Given the description of an element on the screen output the (x, y) to click on. 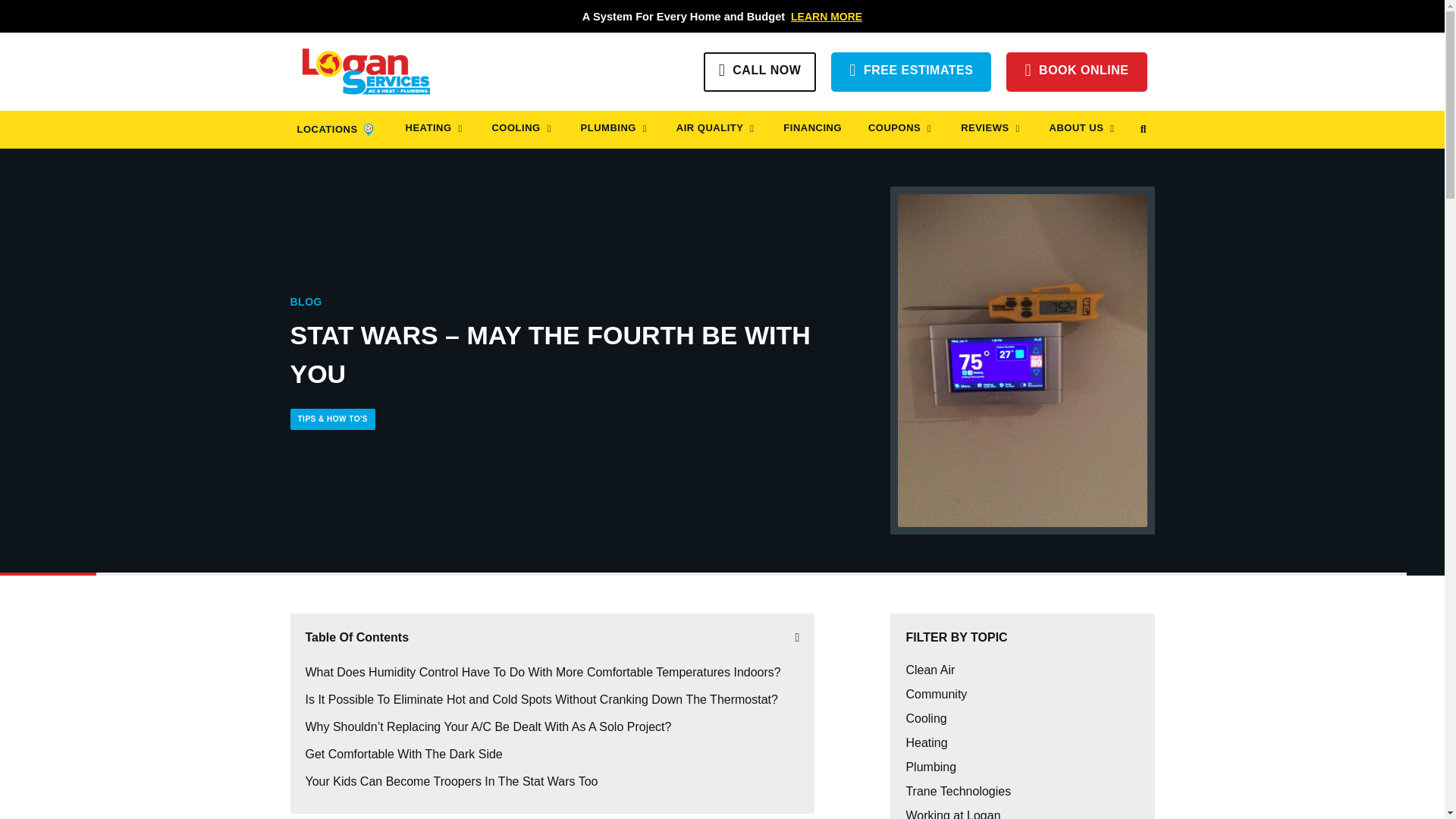
CALL NOW (759, 71)
LEARN MORE (825, 16)
